Given the description of an element on the screen output the (x, y) to click on. 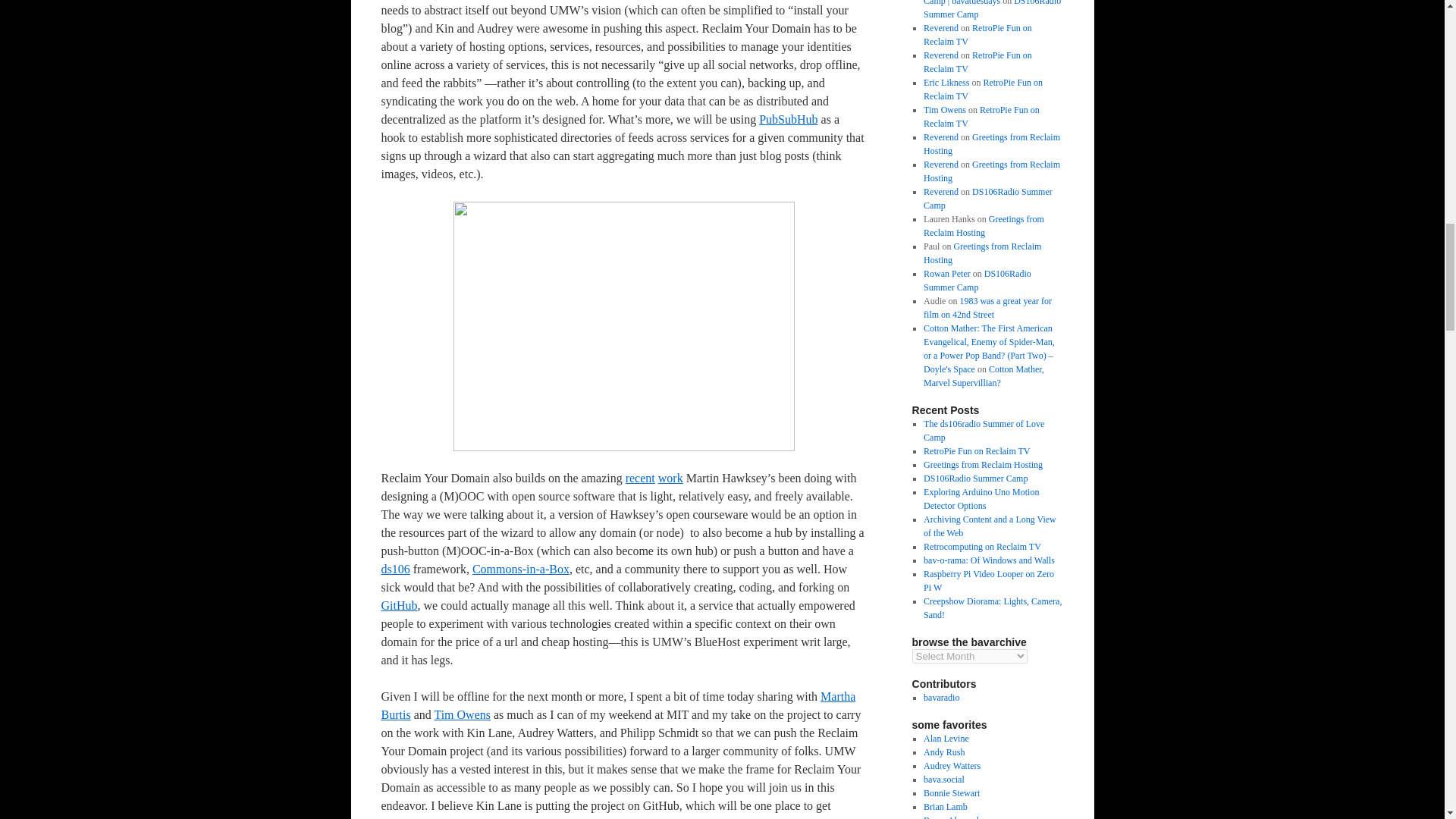
Martha Burtis (618, 705)
ds106 (394, 568)
work (670, 477)
recent (640, 477)
bava on the radio (941, 697)
GitHub (398, 604)
PubSubHub (787, 119)
Commons-in-a-Box (520, 568)
Tim Owens (461, 714)
